Given the description of an element on the screen output the (x, y) to click on. 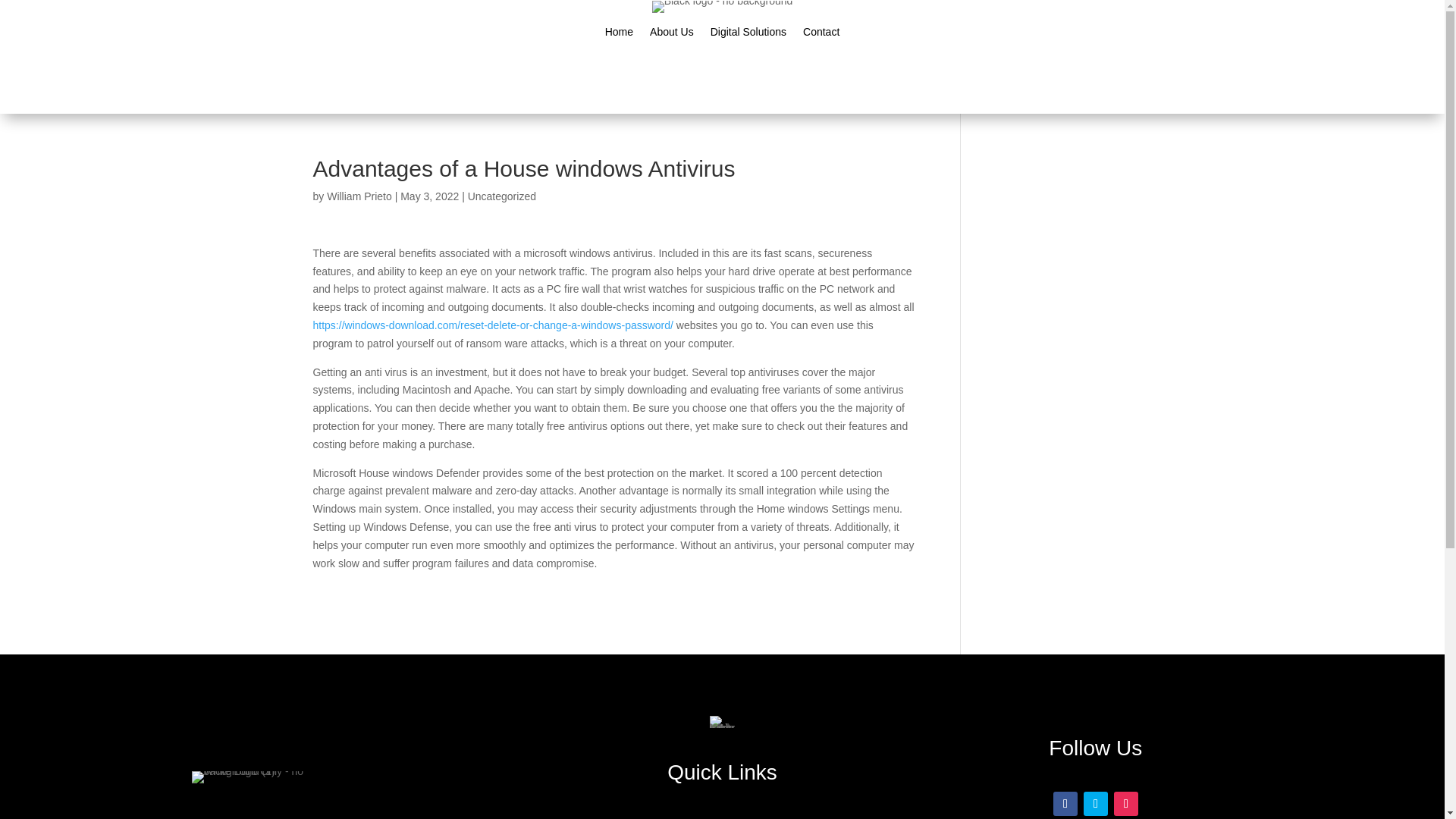
Follow on Instagram (1125, 803)
About Us (671, 34)
Uncategorized (501, 196)
Home (619, 34)
Follow on Twitter (1095, 803)
Posts by William Prieto (358, 196)
Contact (821, 34)
Black logo - no background (722, 6)
Follow on Facebook (1064, 803)
Digital Solutions (748, 34)
William Prieto (358, 196)
